Given the description of an element on the screen output the (x, y) to click on. 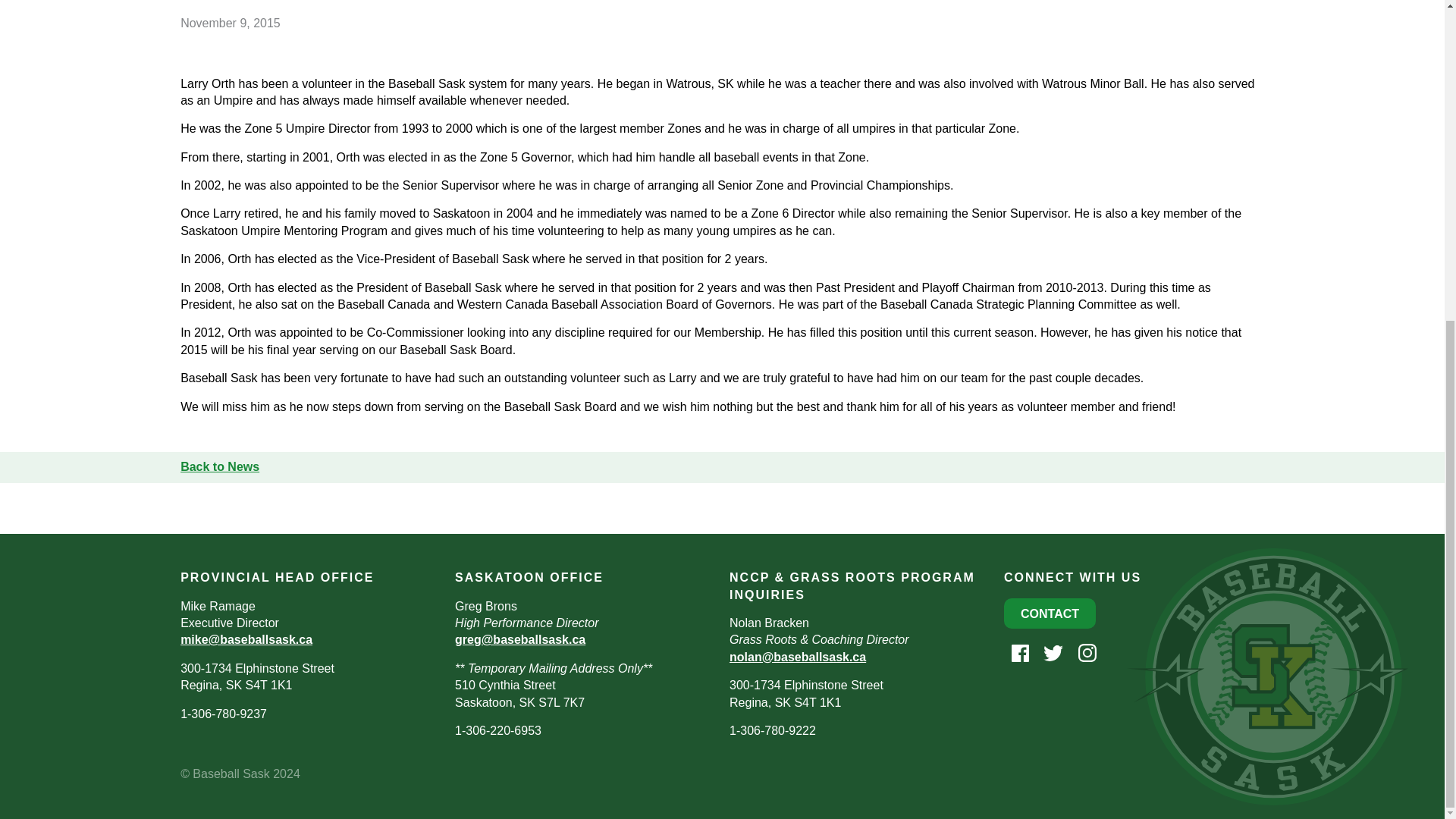
Facebook (1018, 651)
Instagram (1085, 651)
Twitter (1051, 651)
